Given the description of an element on the screen output the (x, y) to click on. 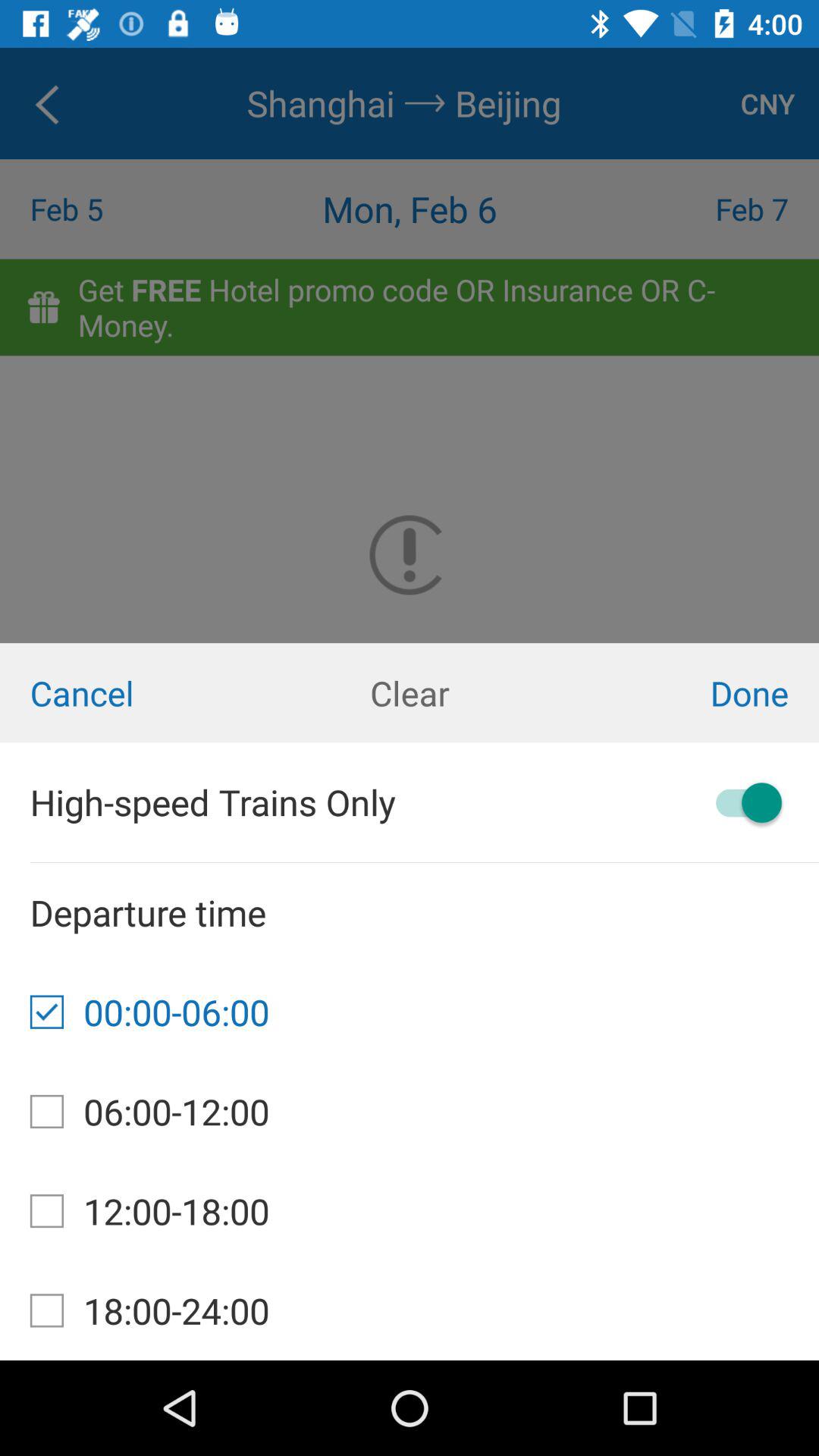
tap icon next to cancel item (409, 692)
